Given the description of an element on the screen output the (x, y) to click on. 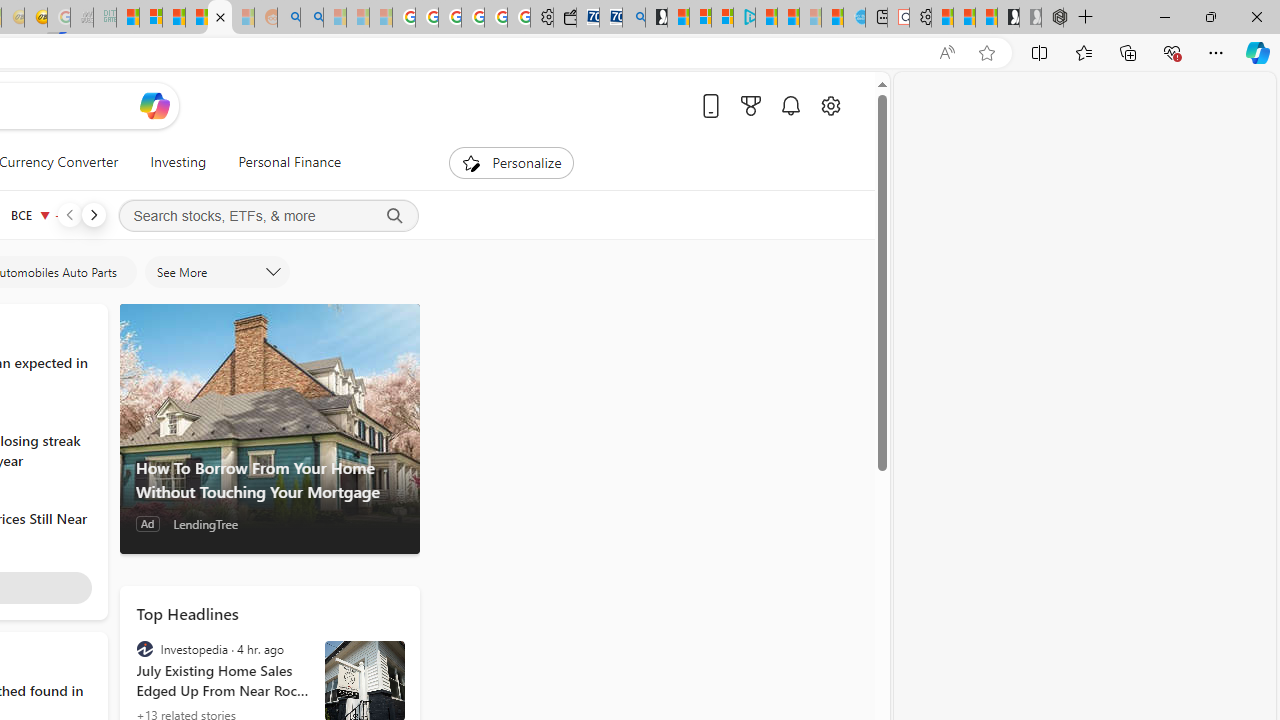
Personalize (511, 162)
Investopedia (144, 649)
Wallet (564, 17)
New tab (876, 17)
Cheap Car Rentals - Save70.com (611, 17)
Open Copilot (155, 105)
Bing Real Estate - Home sales and rental listings (634, 17)
Investing (178, 162)
MSNBC - MSN (127, 17)
